Given the description of an element on the screen output the (x, y) to click on. 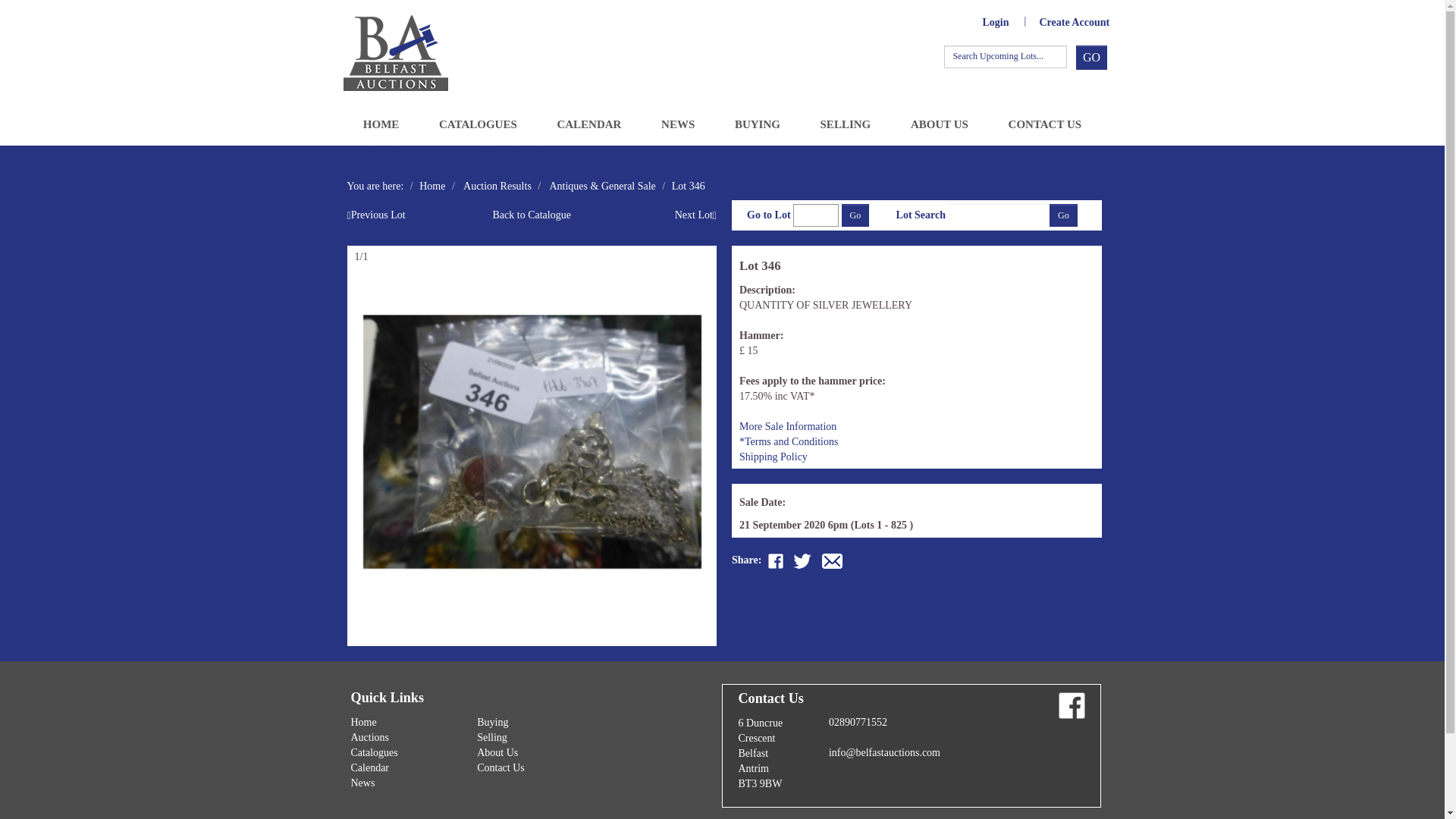
Auction Results (497, 185)
Search (1090, 57)
Home (362, 722)
Previous Lot (376, 215)
CATALOGUES (477, 124)
ABOUT US (939, 124)
CALENDAR (589, 124)
CONTACT US (1043, 124)
Upcoming Auctions (528, 154)
Go (855, 214)
SELLING (844, 124)
Login (995, 22)
Go (1063, 214)
Shipping Policy (773, 456)
HOME (381, 124)
